Given the description of an element on the screen output the (x, y) to click on. 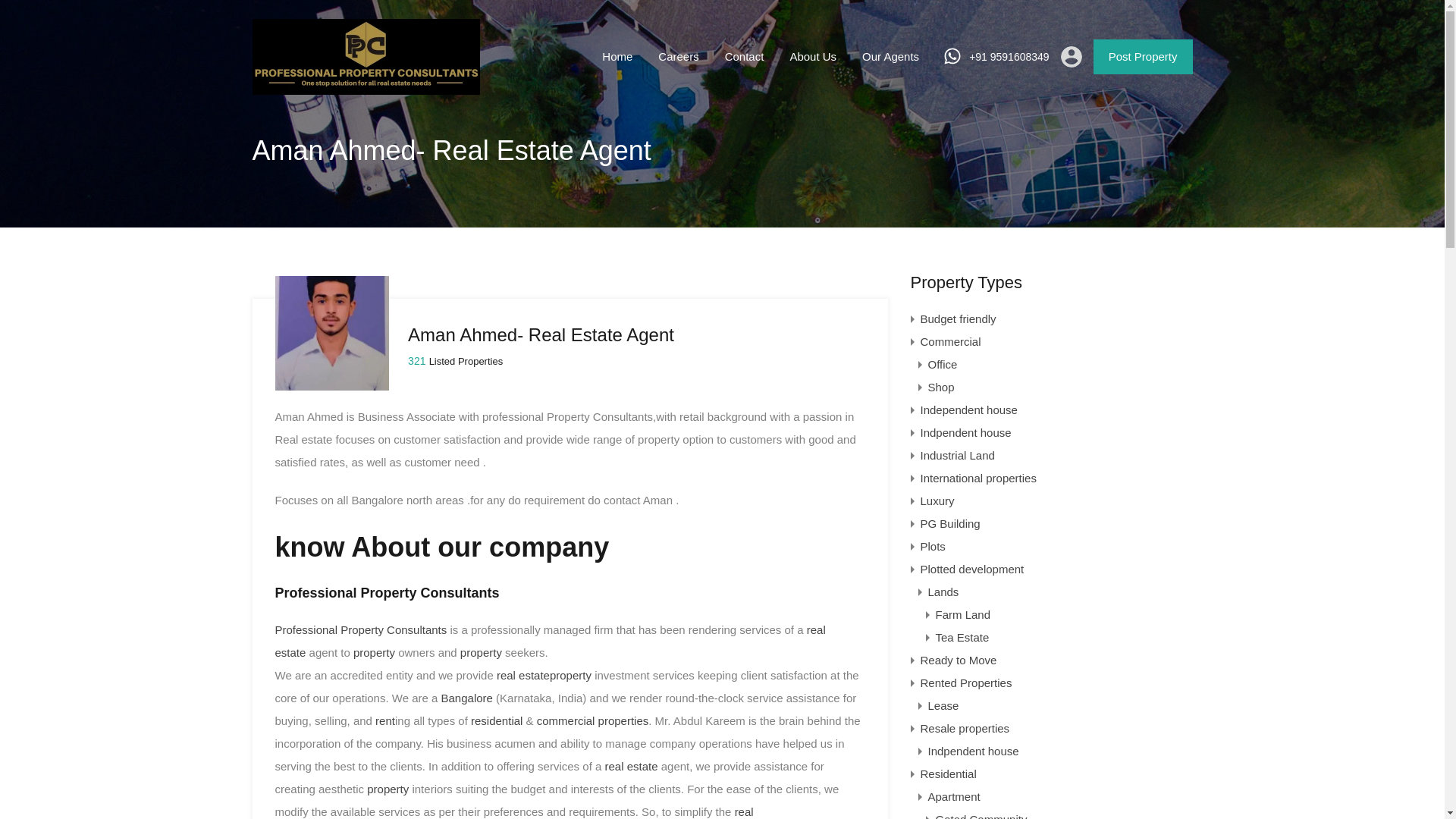
property (481, 652)
Careers (678, 56)
real estate (550, 641)
property (373, 652)
Post Property (1142, 56)
Professional Property Consultants (365, 87)
real estate (631, 766)
Home (617, 56)
Our Agents (889, 56)
About Us (812, 56)
